Given the description of an element on the screen output the (x, y) to click on. 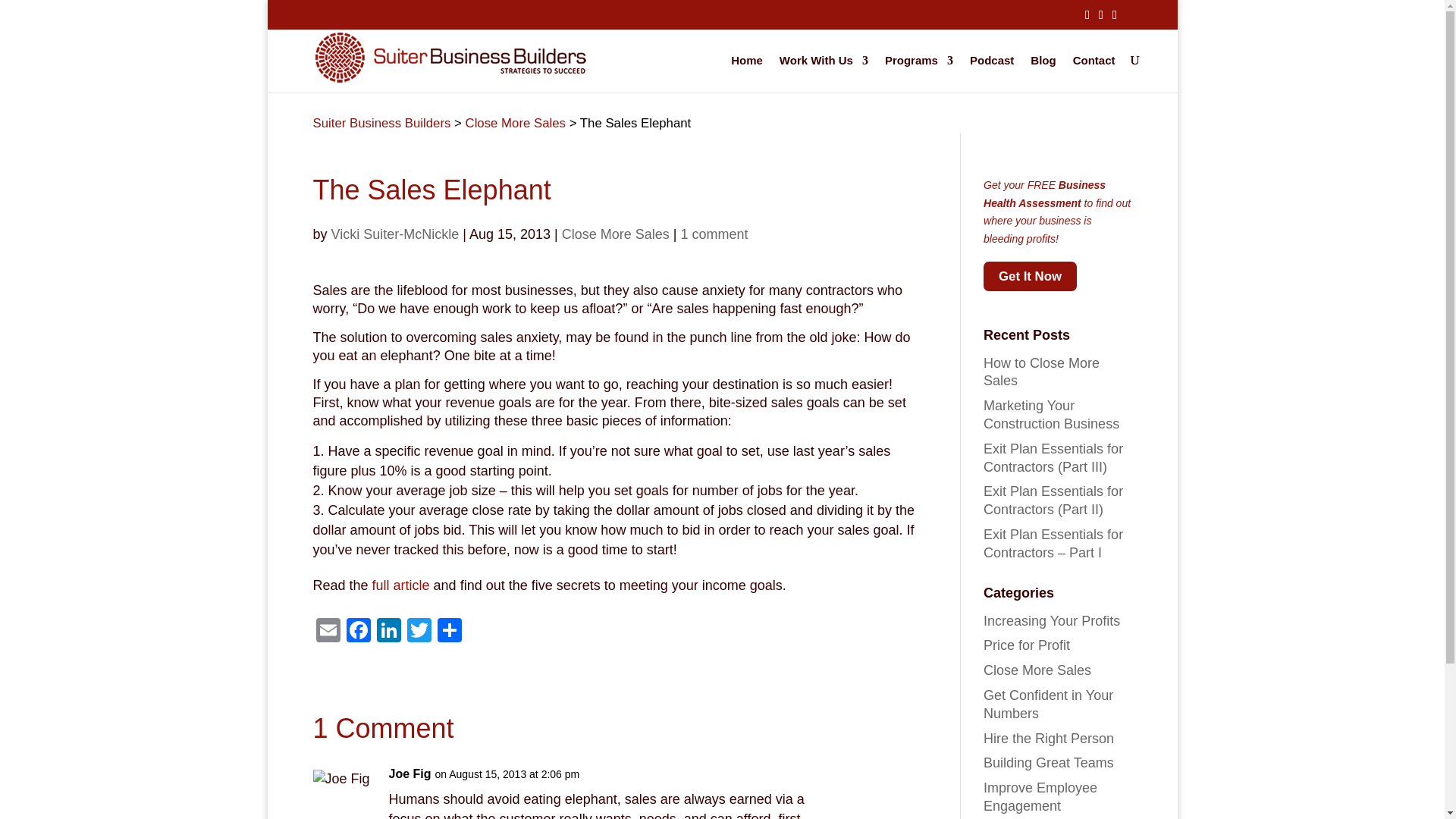
1 comment (713, 233)
Vicki Suiter-McNickle (395, 233)
Work With Us (822, 72)
Posts by Vicki Suiter-McNickle (395, 233)
Go to Suiter Business Builders. (381, 123)
Suiter Business Builders (381, 123)
Podcast (991, 72)
LinkedIn (387, 632)
Go to the Close More Sales category archives. (515, 123)
Programs (919, 72)
Facebook (357, 632)
Close More Sales (615, 233)
Close More Sales (515, 123)
Twitter (418, 632)
full article (402, 585)
